Given the description of an element on the screen output the (x, y) to click on. 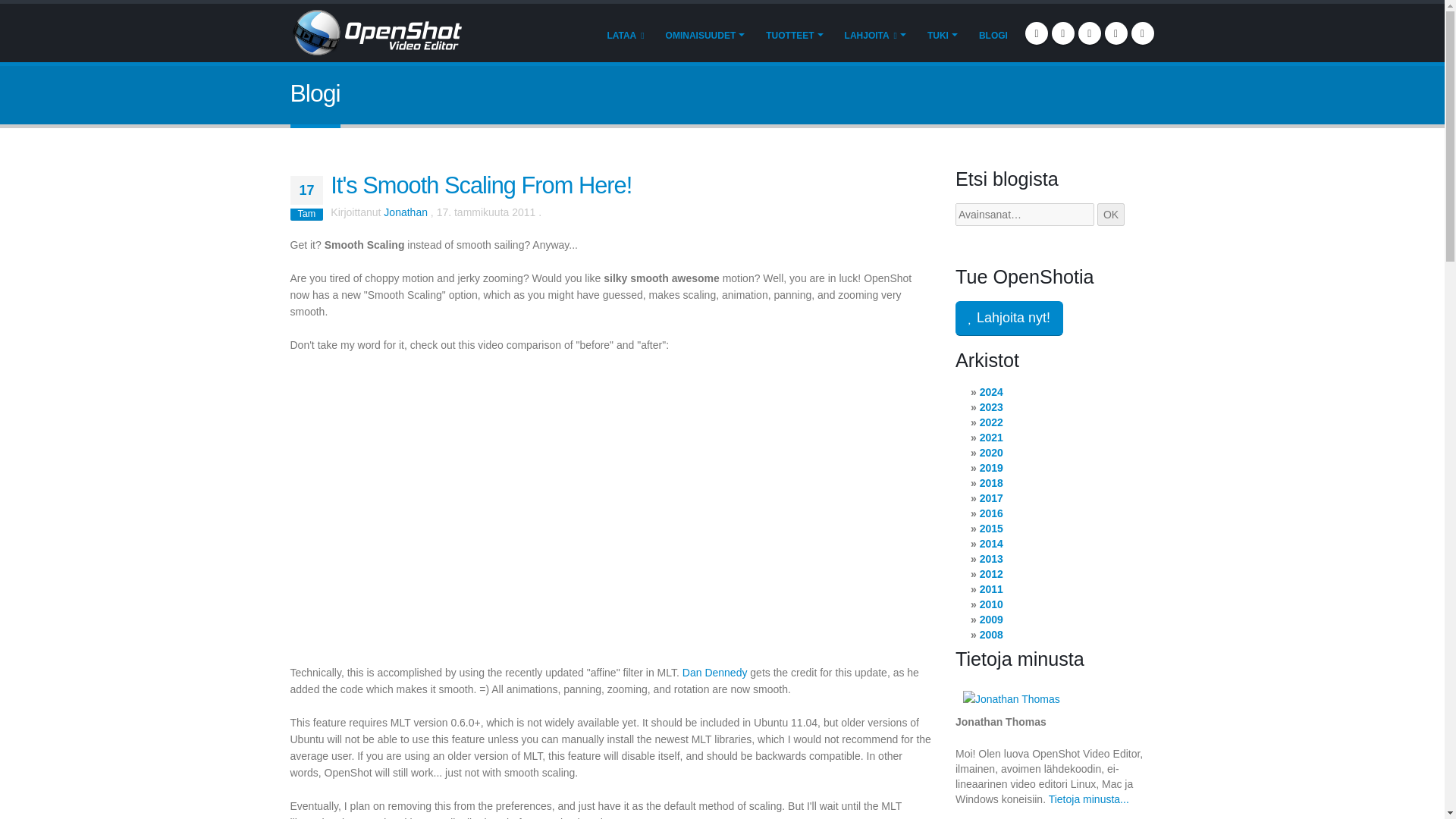
OMINAISUUDET (705, 34)
OK (1110, 214)
LATAA (624, 34)
